Given the description of an element on the screen output the (x, y) to click on. 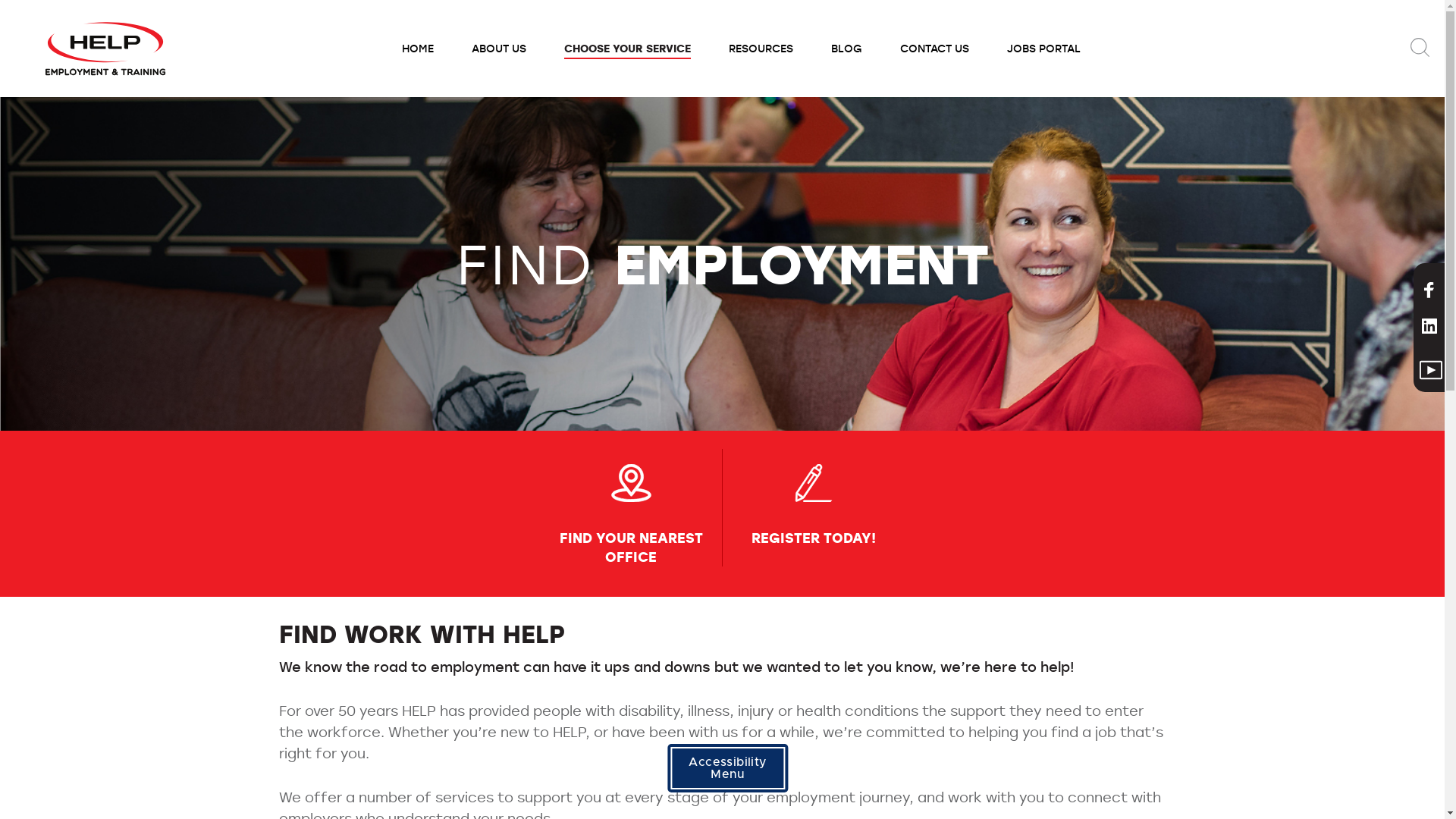
LinkedIn Element type: hover (1428, 328)
Facebook Element type: hover (1429, 292)
Youtube Element type: hover (1430, 372)
RESOURCES Element type: text (760, 48)
FIND YOUR NEAREST OFFICE Element type: text (630, 515)
JOBS PORTAL Element type: text (1043, 48)
ABOUT US Element type: text (498, 48)
REGISTER TODAY! Element type: text (812, 515)
HELP EMPLOYMENT TRAINING Element type: text (104, 45)
HOME Element type: text (417, 48)
CHOOSE YOUR SERVICE Element type: text (627, 48)
CONTACT US Element type: text (934, 48)
BLOG Element type: text (846, 48)
